Given the description of an element on the screen output the (x, y) to click on. 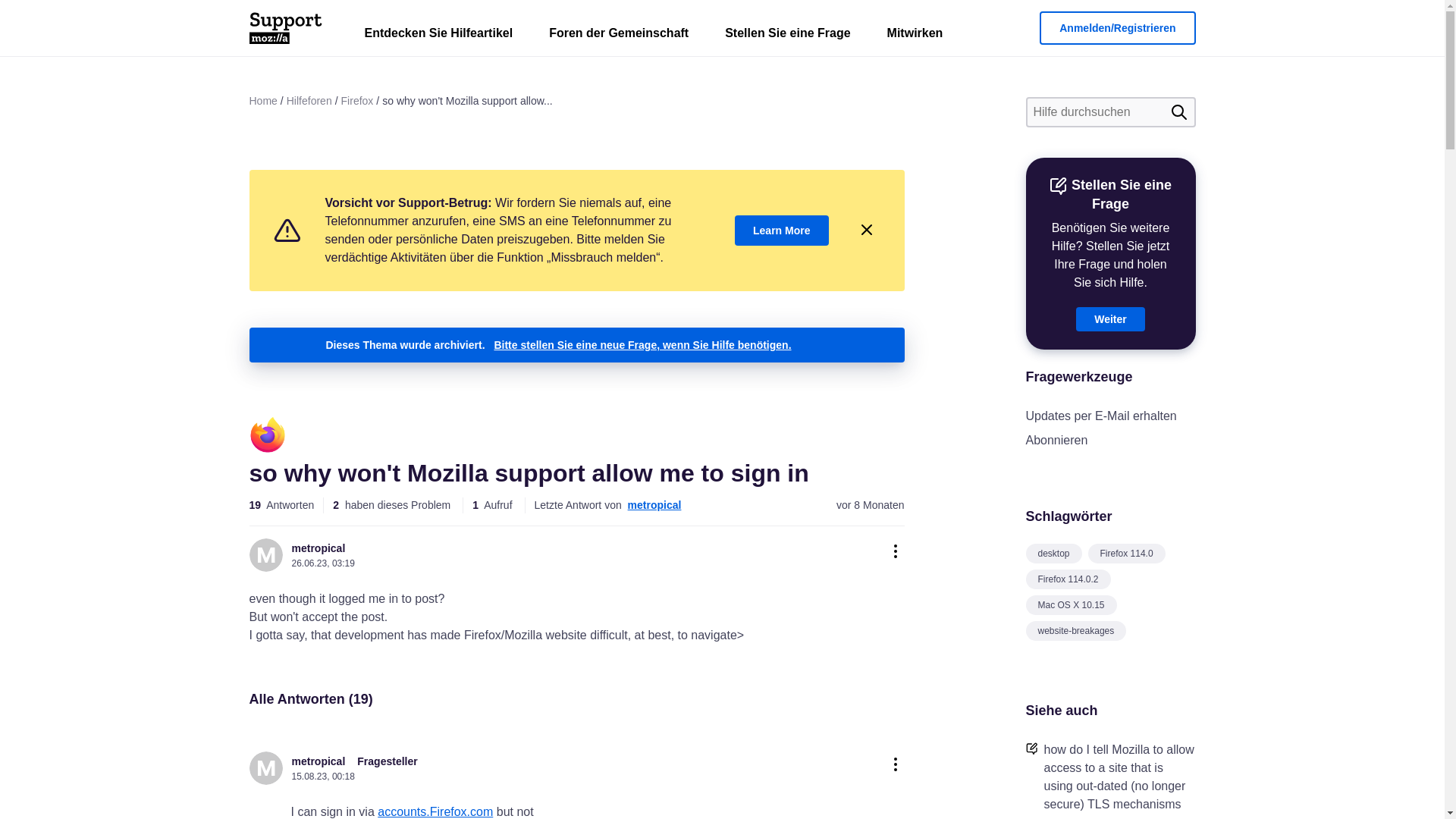
Suche (1178, 111)
Entdecken Sie Hilfeartikel (438, 37)
Foren der Gemeinschaft (618, 37)
Stellen Sie eine Frage (786, 37)
